Given the description of an element on the screen output the (x, y) to click on. 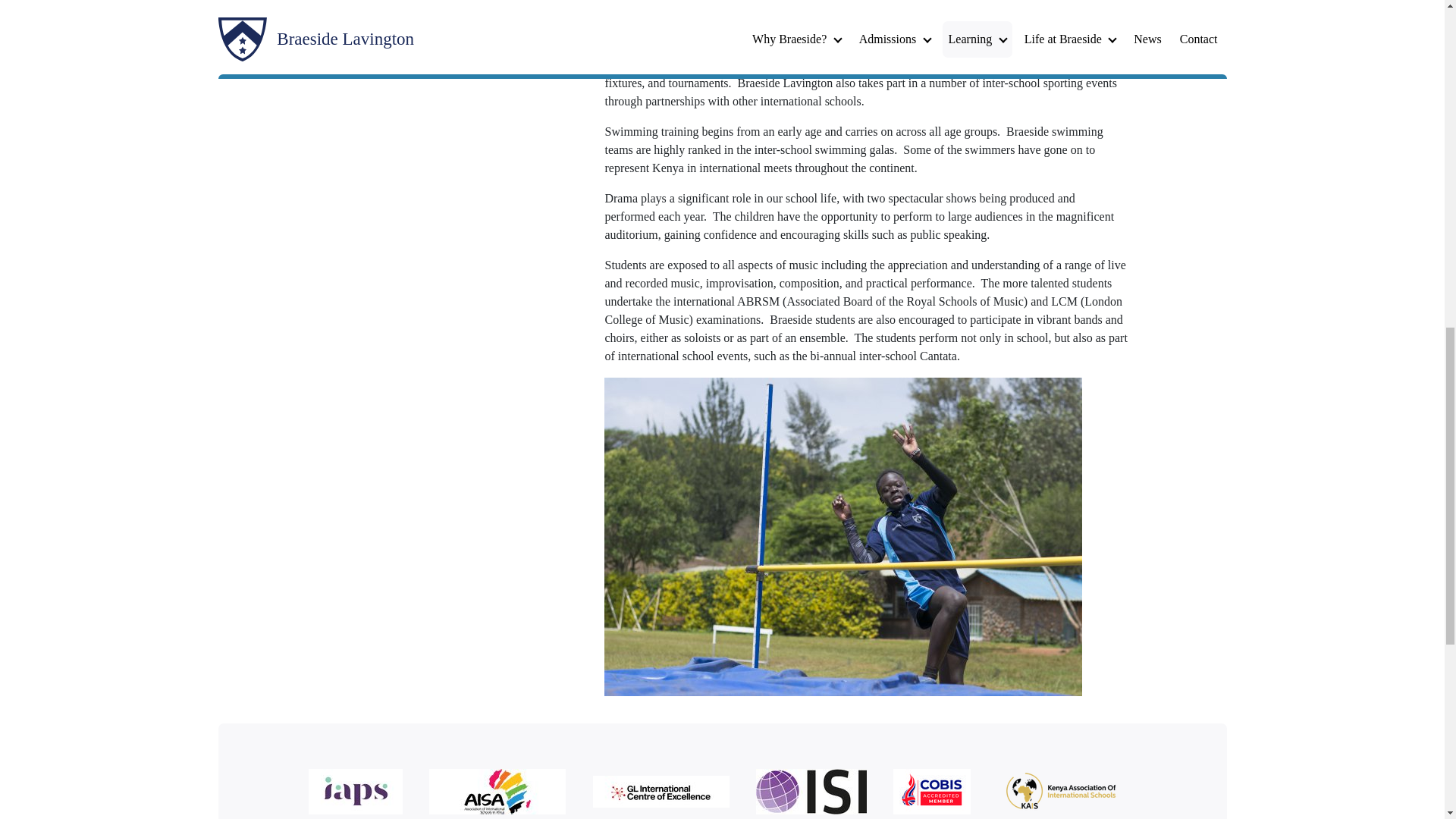
Independent Schools Inspectorate (817, 794)
GL Education Assessment Excellence (666, 794)
Kenyan International Schools Association (1066, 794)
The Independent Association of Prep Schools (361, 794)
Association of International Schools in Africa (503, 794)
